Given the description of an element on the screen output the (x, y) to click on. 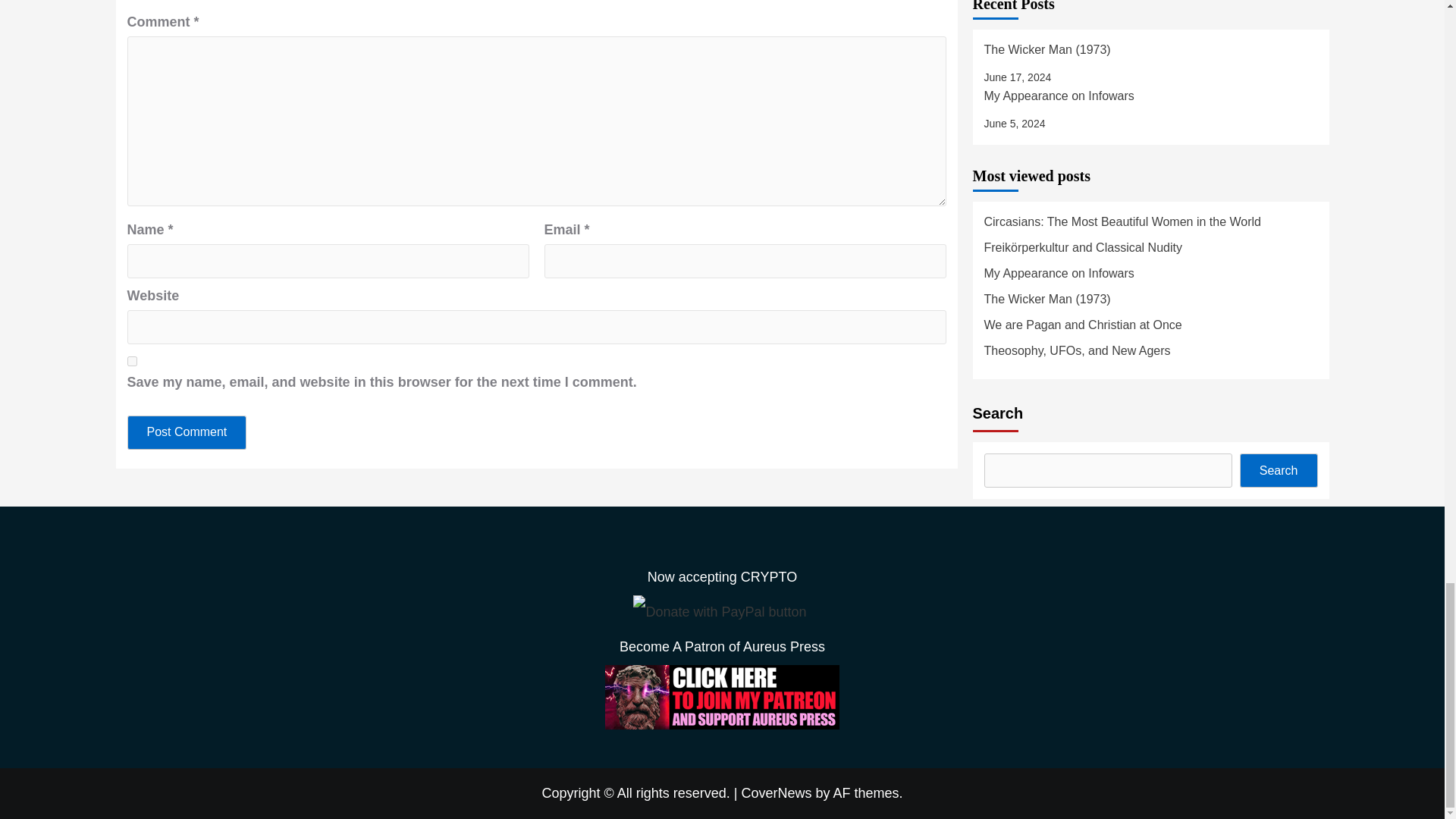
yes (132, 361)
Post Comment (187, 432)
